Given the description of an element on the screen output the (x, y) to click on. 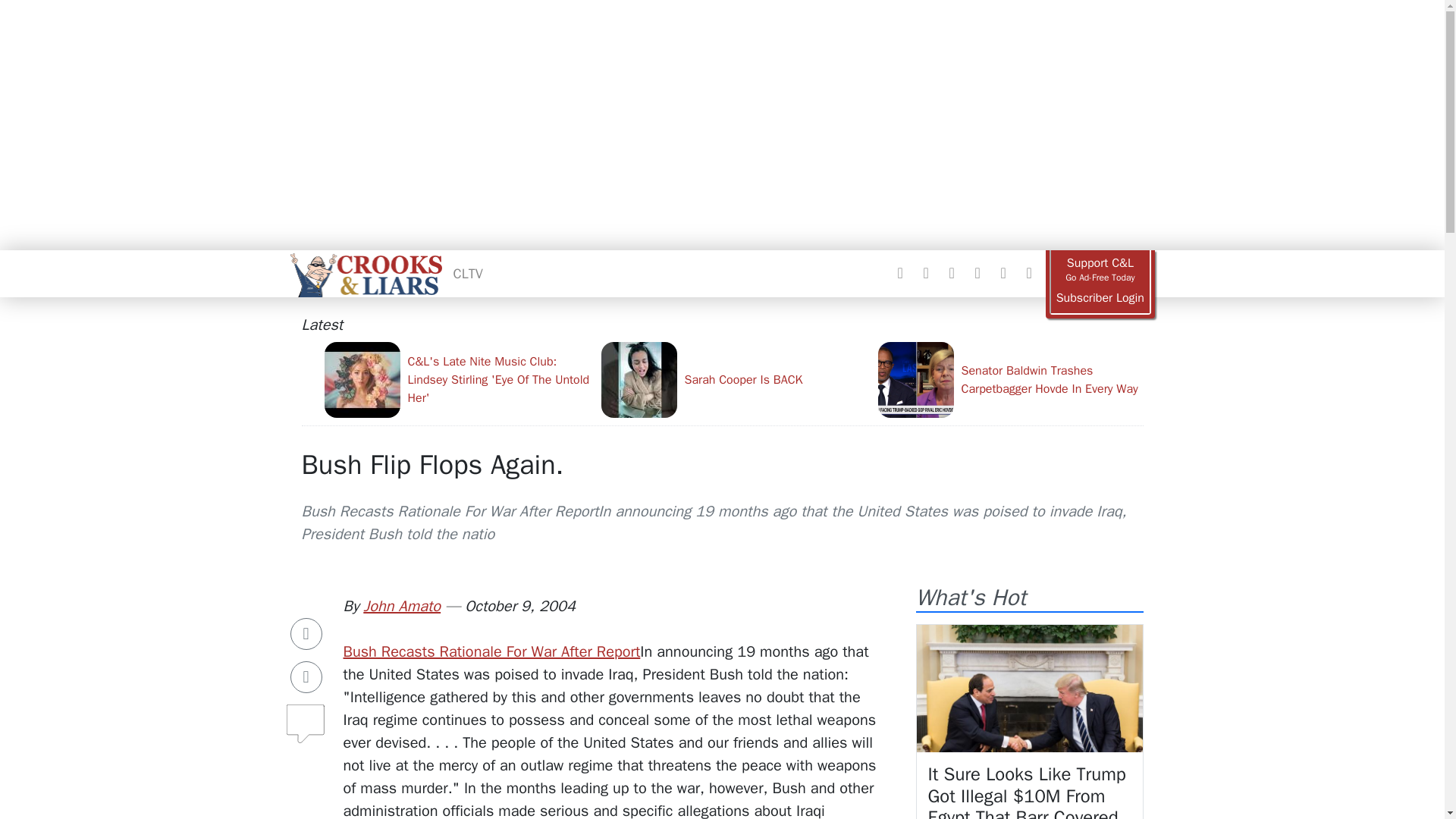
John Amato (401, 606)
Bush Flip Flops Again. (432, 464)
John Amato (401, 606)
CLTV (467, 273)
Bush Recasts Rationale For War After Report (491, 651)
Comments (306, 717)
Subscriber Login (1099, 298)
Share on Twitter (306, 676)
Login to your ad free account (1099, 298)
Senator Baldwin Trashes Carpetbagger Hovde In Every Way (1009, 379)
Sarah Cooper Is BACK  (732, 379)
Go ad free today! (1099, 270)
Sarah Cooper Is BACK (732, 379)
Senator Baldwin Trashes Carpetbagger Hovde In Every Way (1009, 379)
Share on Facebook (306, 634)
